Given the description of an element on the screen output the (x, y) to click on. 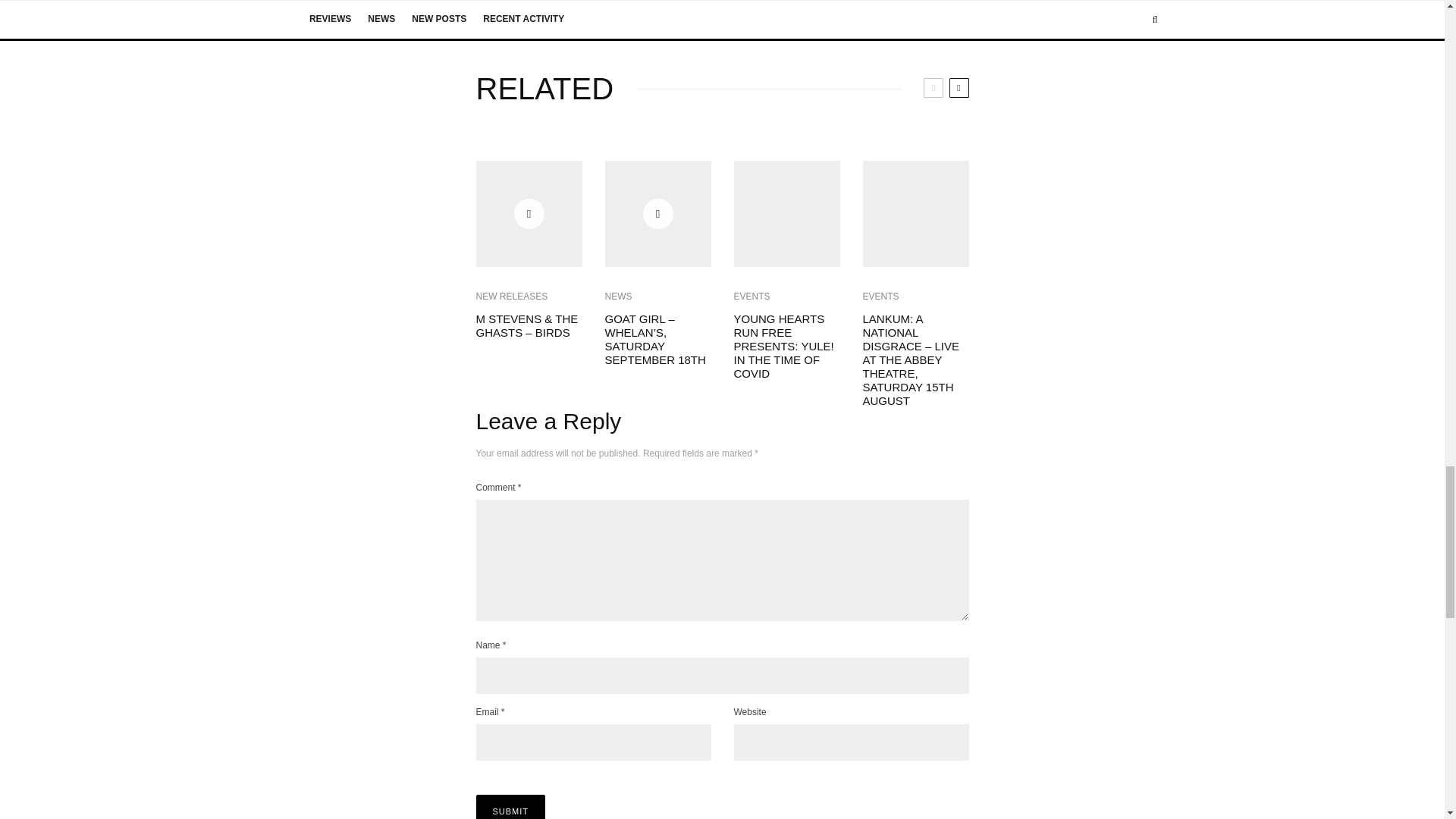
Submit (511, 806)
